Given the description of an element on the screen output the (x, y) to click on. 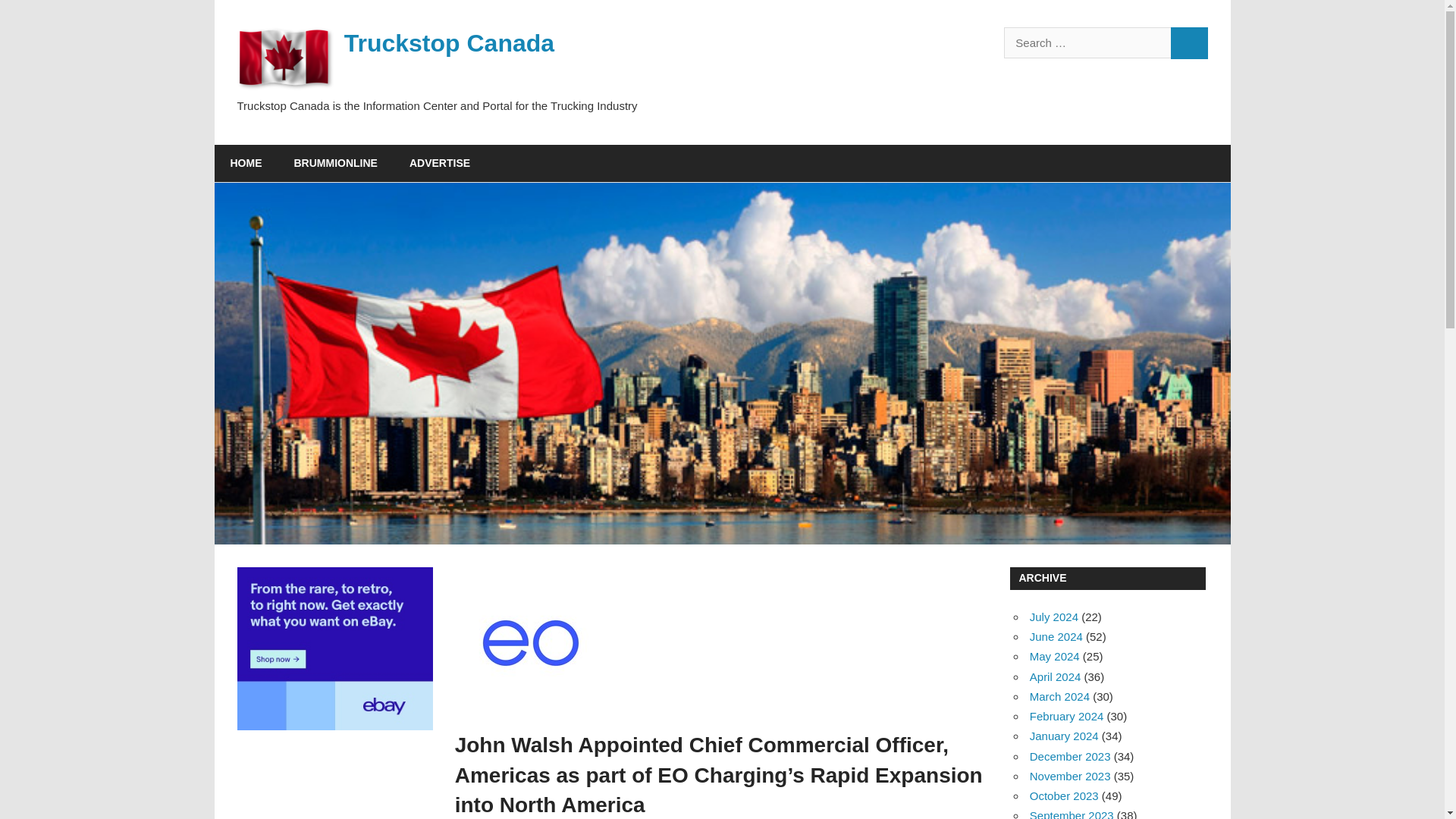
BRUMMIONLINE (335, 163)
April 2024 (1055, 676)
October 2023 (1064, 795)
Search for: (1088, 42)
February 2024 (1066, 716)
HOME (246, 163)
ADVERTISE (439, 163)
November 2023 (1069, 775)
December 2023 (1069, 756)
September 2023 (1071, 814)
January 2024 (1064, 735)
July 2024 (1053, 616)
June 2024 (1056, 635)
Truckstop Canada (448, 42)
March 2024 (1059, 696)
